Given the description of an element on the screen output the (x, y) to click on. 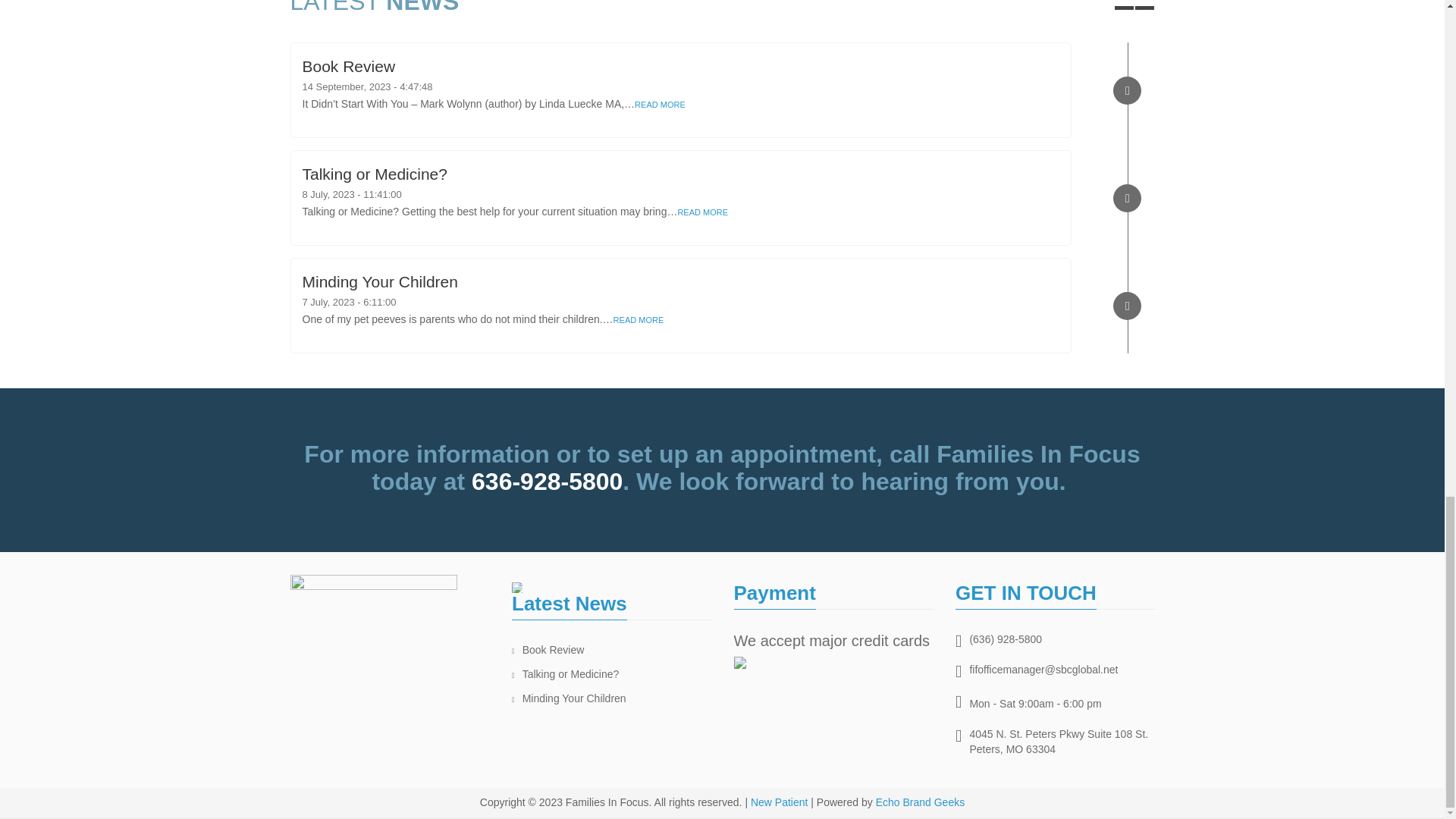
New Patient Form (779, 802)
New Patient (779, 802)
Permanent Link to Talking or Medicine? (373, 173)
Latest News (569, 603)
Permanent Link to Book Review (347, 66)
READ MORE (659, 103)
Minding Your Children (574, 698)
Permanent Link to Minding Your Children (379, 281)
Book Review (347, 66)
Talking or Medicine? (373, 173)
